Given the description of an element on the screen output the (x, y) to click on. 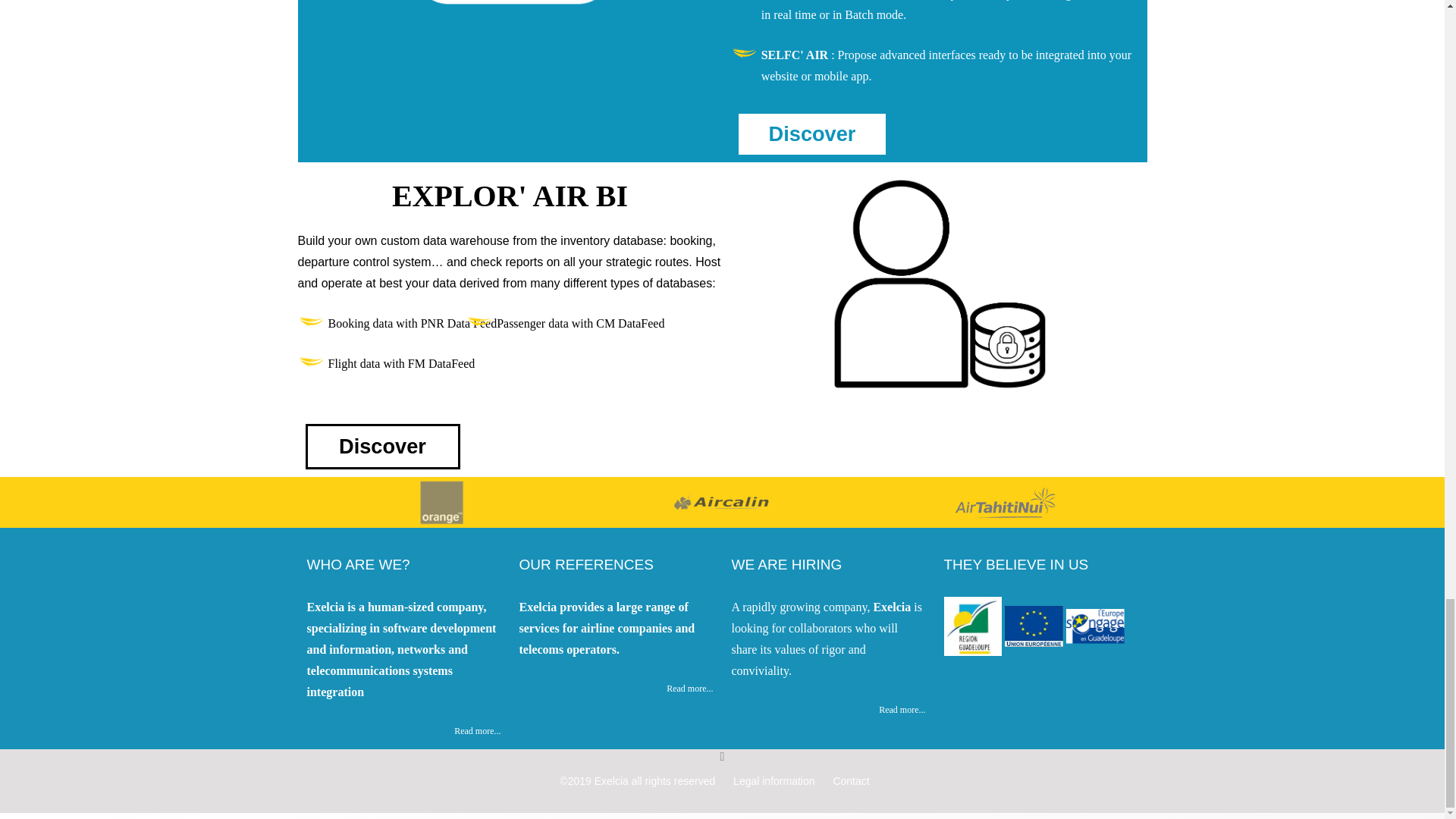
legal notice (773, 780)
Contact us (850, 780)
